Given the description of an element on the screen output the (x, y) to click on. 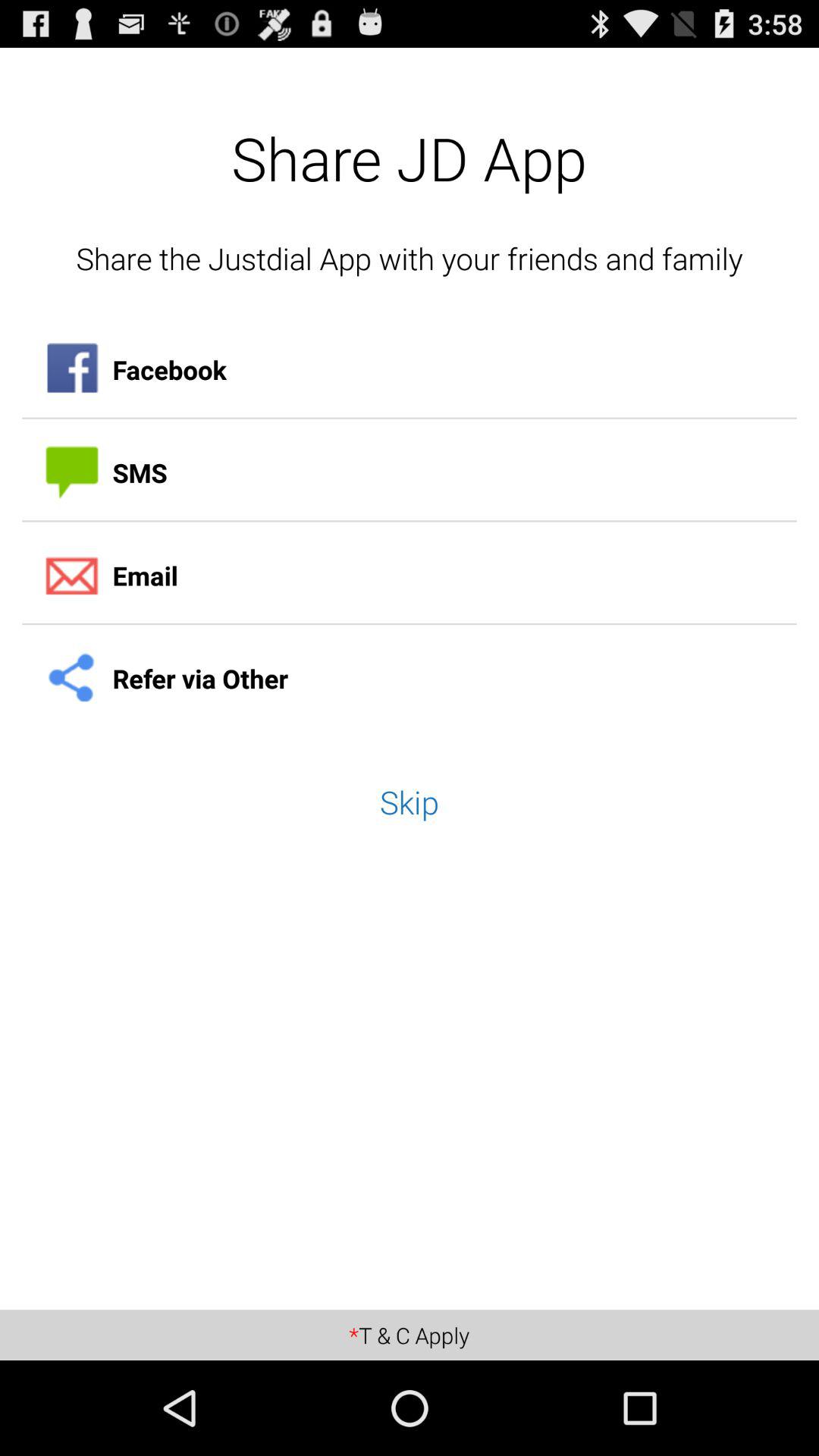
open item below facebook icon (409, 472)
